Given the description of an element on the screen output the (x, y) to click on. 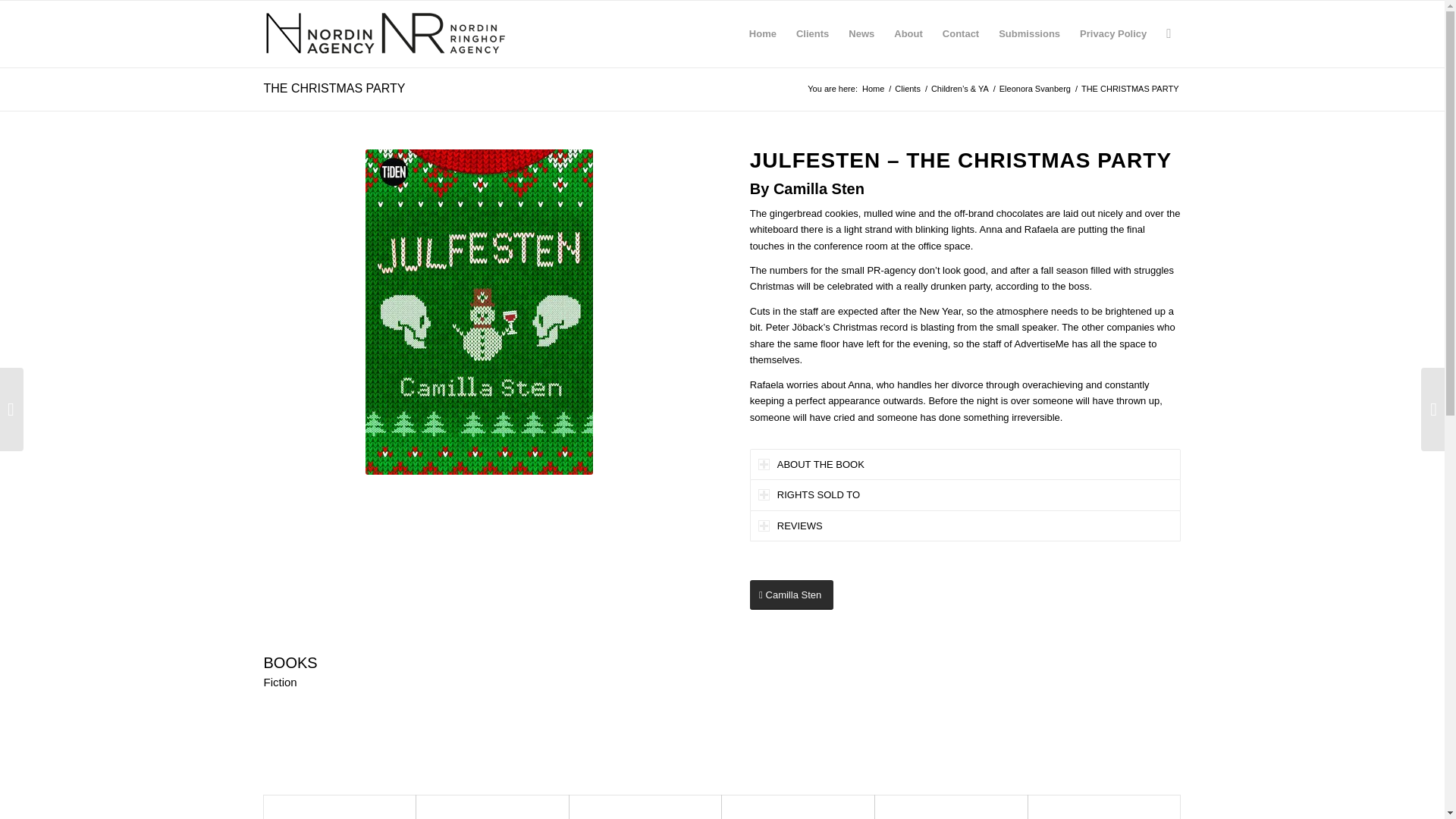
Home (762, 33)
News (860, 33)
Clients (907, 89)
Nordin Agency (873, 89)
Camilla Sten (790, 594)
Privacy Policy (1113, 33)
Home (873, 89)
Eleonora Svanberg (1035, 89)
Eleonora Svanberg (1035, 89)
Permanent Link: THE CHRISTMAS PARTY (334, 88)
About (908, 33)
THE CHRISTMAS PARTY (334, 88)
Submissions (1029, 33)
Clients (812, 33)
Clients (907, 89)
